Given the description of an element on the screen output the (x, y) to click on. 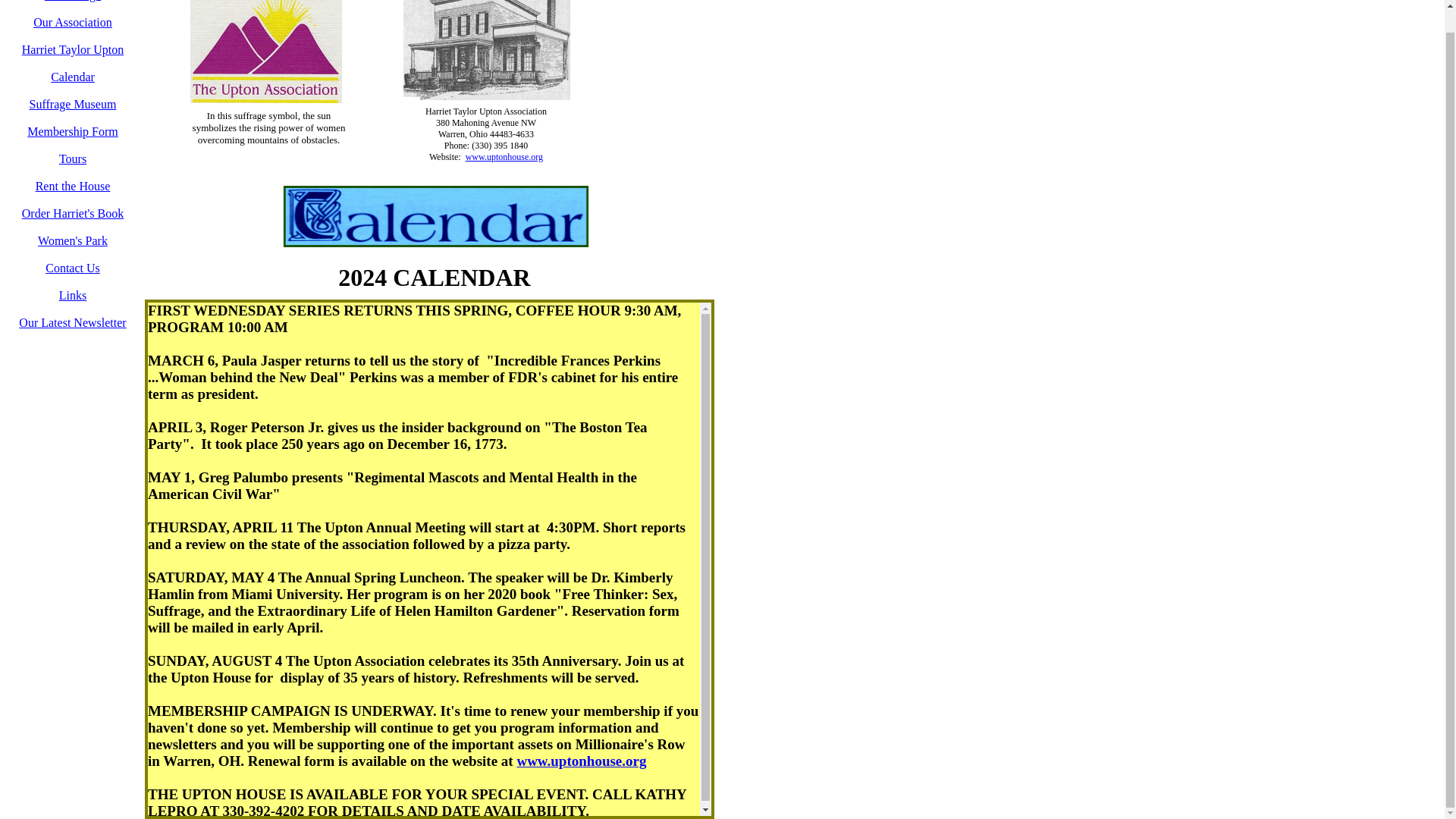
Contact Us (72, 267)
Our Latest Newsletter (71, 322)
Tours (72, 158)
Harriet Taylor Upton (72, 49)
Home Page (72, 0)
Suffrage Museum (72, 103)
Rent the House (72, 185)
www.uptonhouse.org (504, 156)
www.uptonhouse.org (581, 760)
Links (72, 295)
Membership Form (72, 131)
Women's Park (72, 240)
Order Harriet's Book (72, 213)
Our Association (72, 21)
Calendar (72, 76)
